Given the description of an element on the screen output the (x, y) to click on. 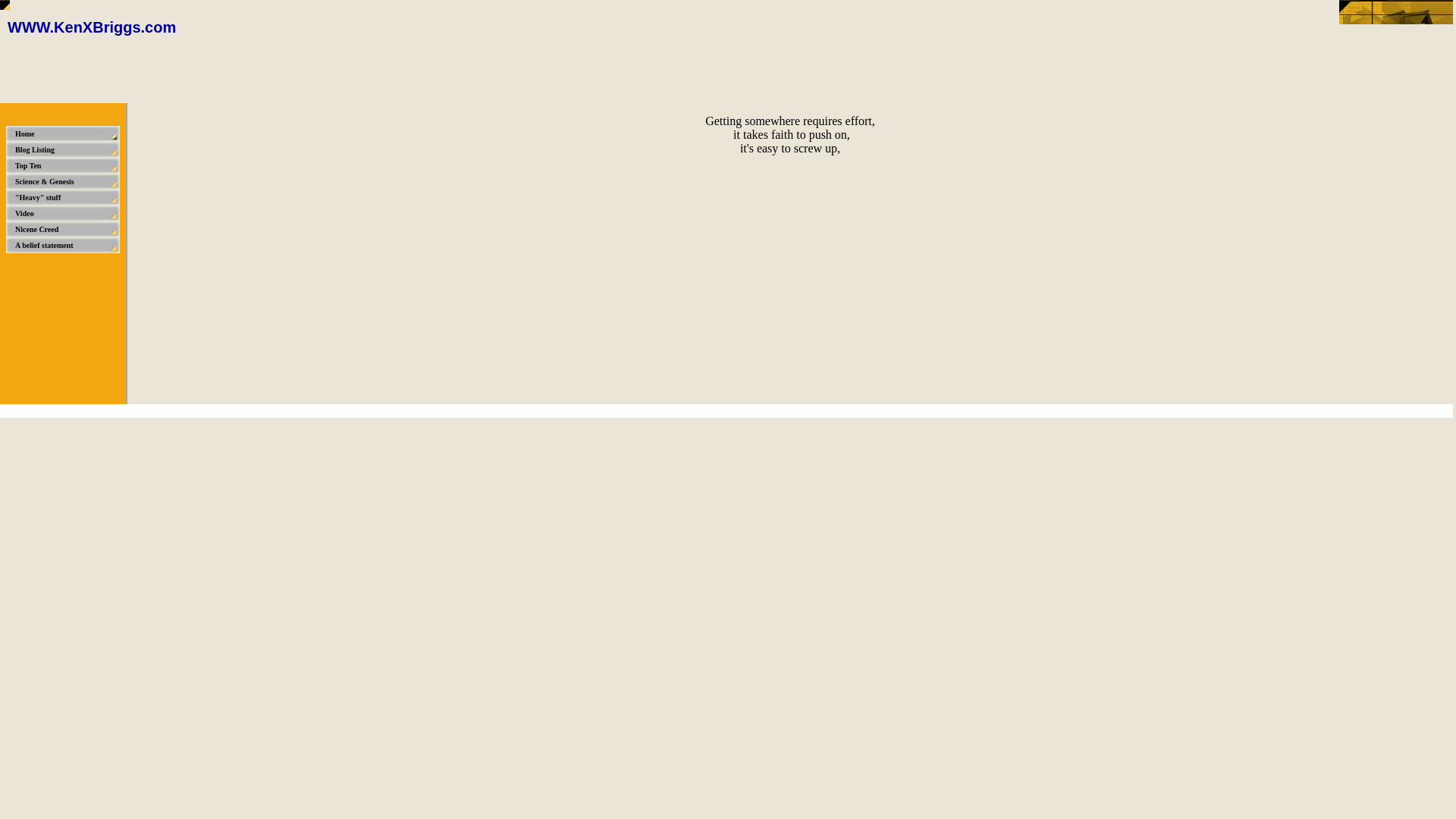
Nicene Creed (63, 229)
A belief statement (63, 245)
Blog Listing (63, 149)
Home (63, 133)
"Heavy" stuff (63, 197)
Video (63, 213)
Top Ten (63, 165)
